Given the description of an element on the screen output the (x, y) to click on. 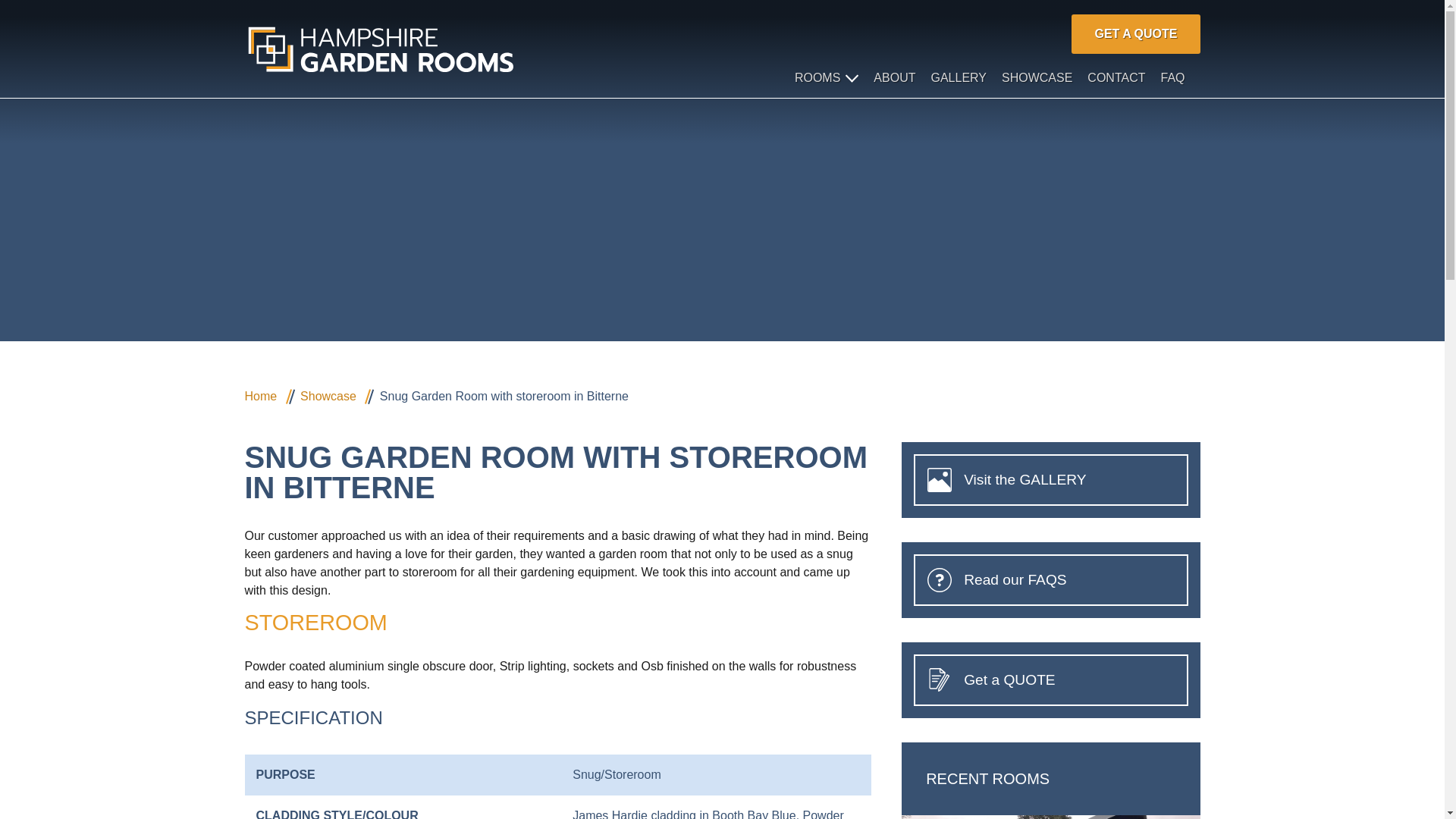
GET A QUOTE (1135, 33)
Showcase (327, 395)
Get a QUOTE (1050, 680)
GALLERY (958, 77)
Read our FAQS (1050, 580)
CONTACT (1115, 77)
SHOWCASE (1036, 77)
Home (260, 395)
ABOUT (894, 77)
Visit the GALLERY (1050, 479)
